Given the description of an element on the screen output the (x, y) to click on. 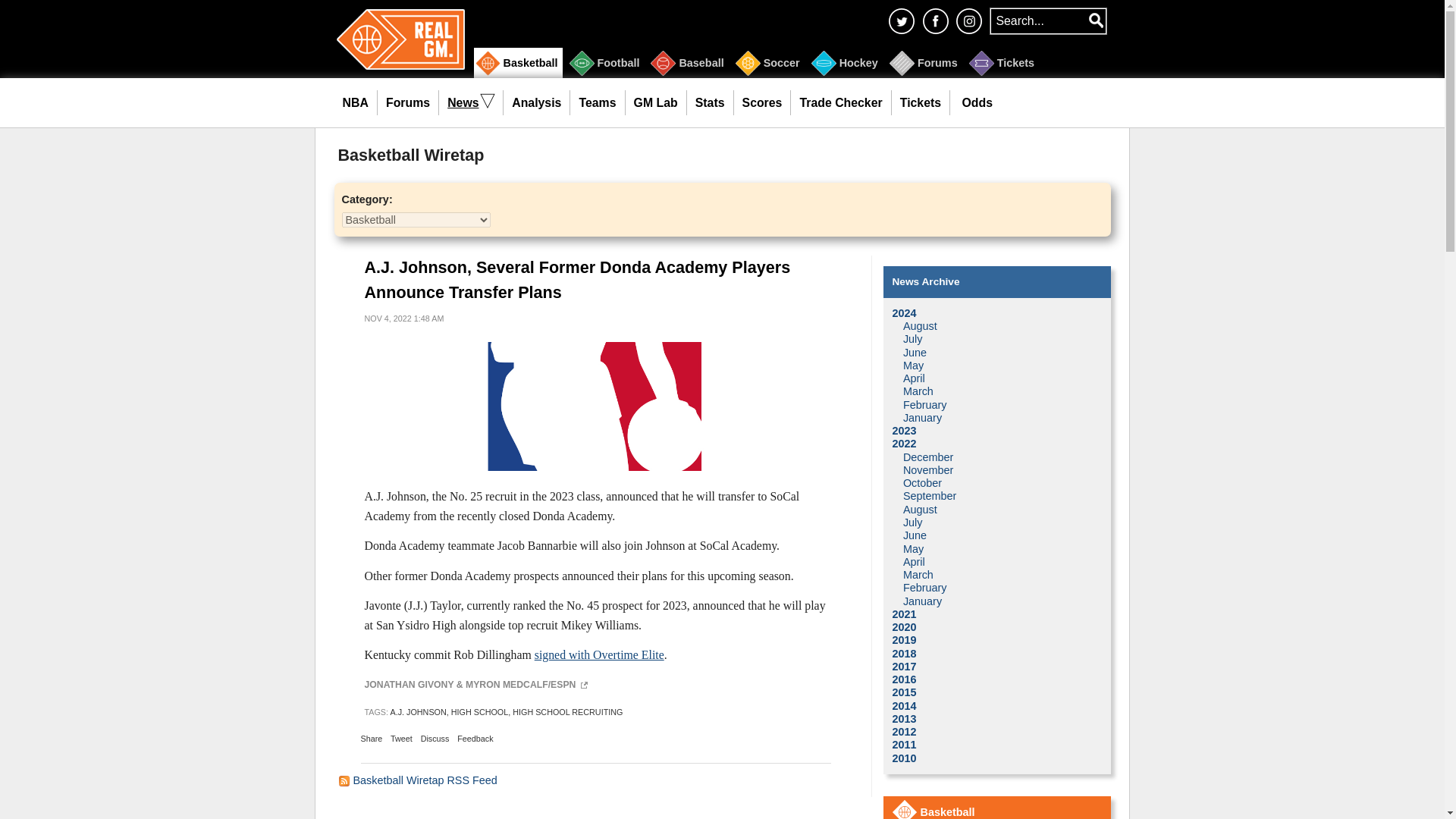
RealGM on Twitter (901, 20)
RealGM on Facebook (935, 20)
Baseball (688, 62)
Discuss (434, 738)
Forums (924, 62)
Basketball (517, 62)
NBA (355, 102)
Share (371, 738)
Forums (407, 102)
Hockey (845, 62)
